Given the description of an element on the screen output the (x, y) to click on. 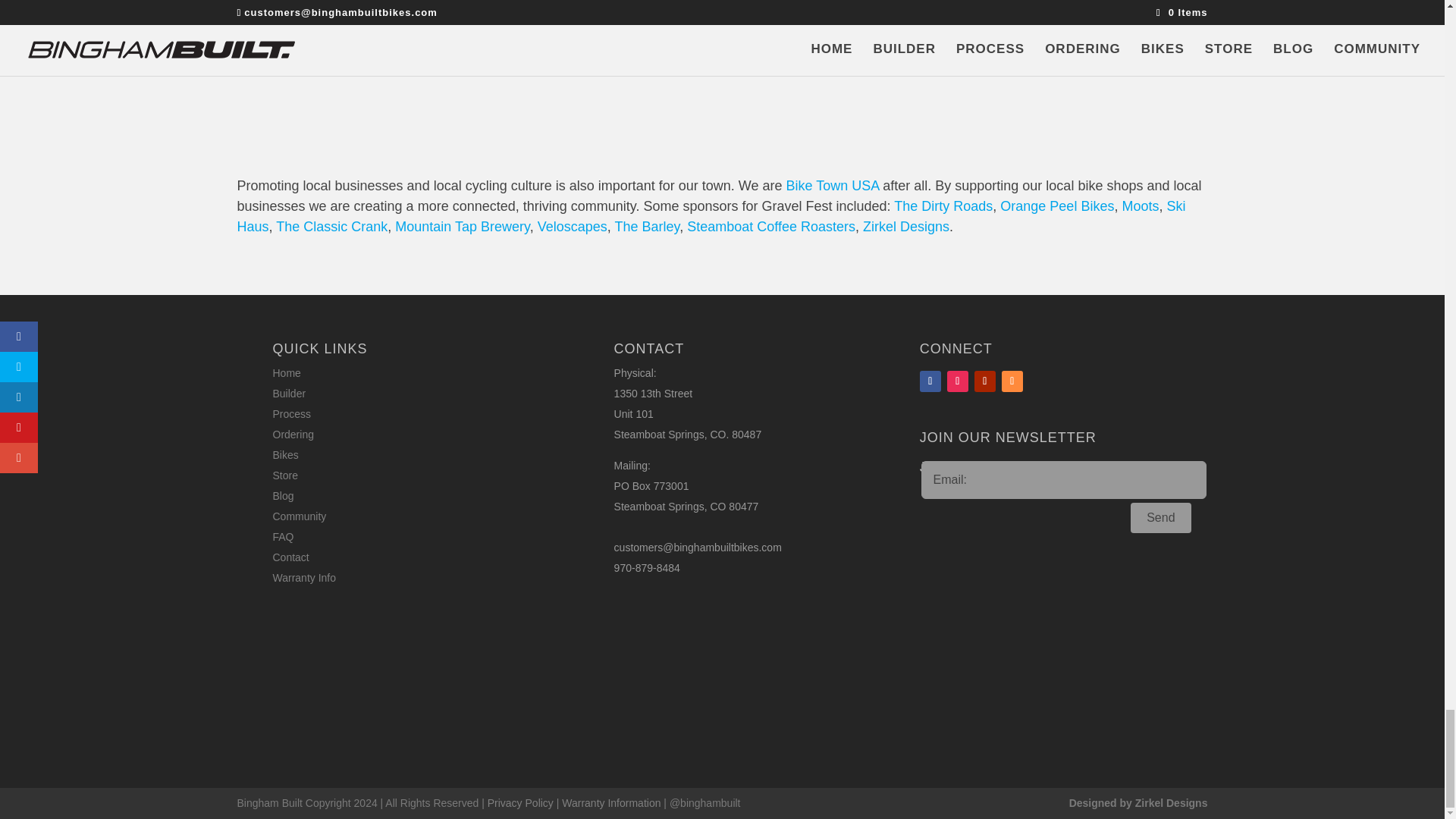
Follow on Instagram (957, 381)
Bike Town USA (832, 185)
Ski Haus (710, 216)
Orange Peel Bikes (1056, 206)
Veloscapes (572, 226)
Follow on Youtube (984, 381)
Ordering (293, 434)
Steamboat Coffee Roasters (771, 226)
The Classic Crank (331, 226)
Mountain Tap Brewery (461, 226)
